Given the description of an element on the screen output the (x, y) to click on. 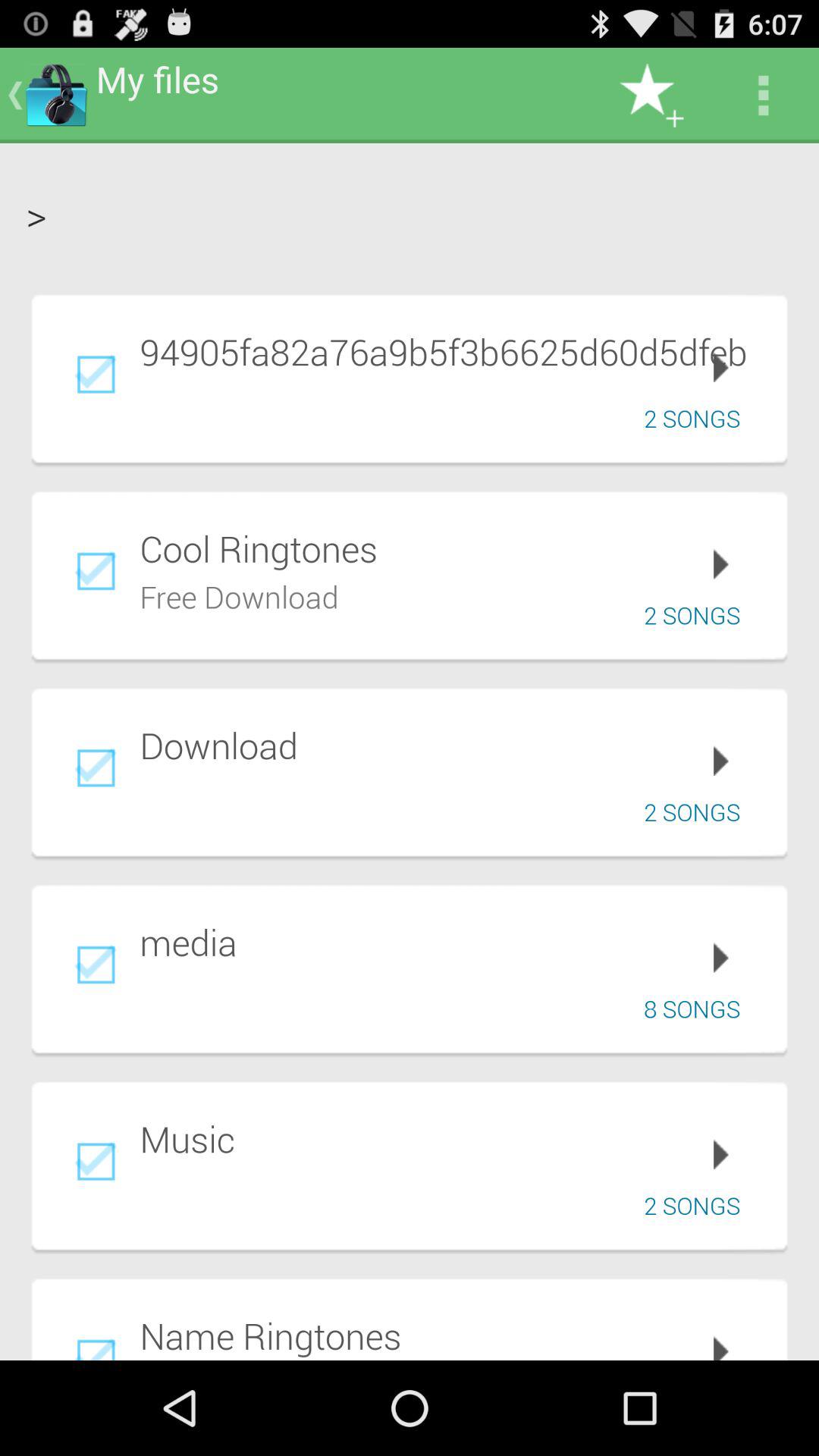
click icon above the > item (651, 95)
